Given the description of an element on the screen output the (x, y) to click on. 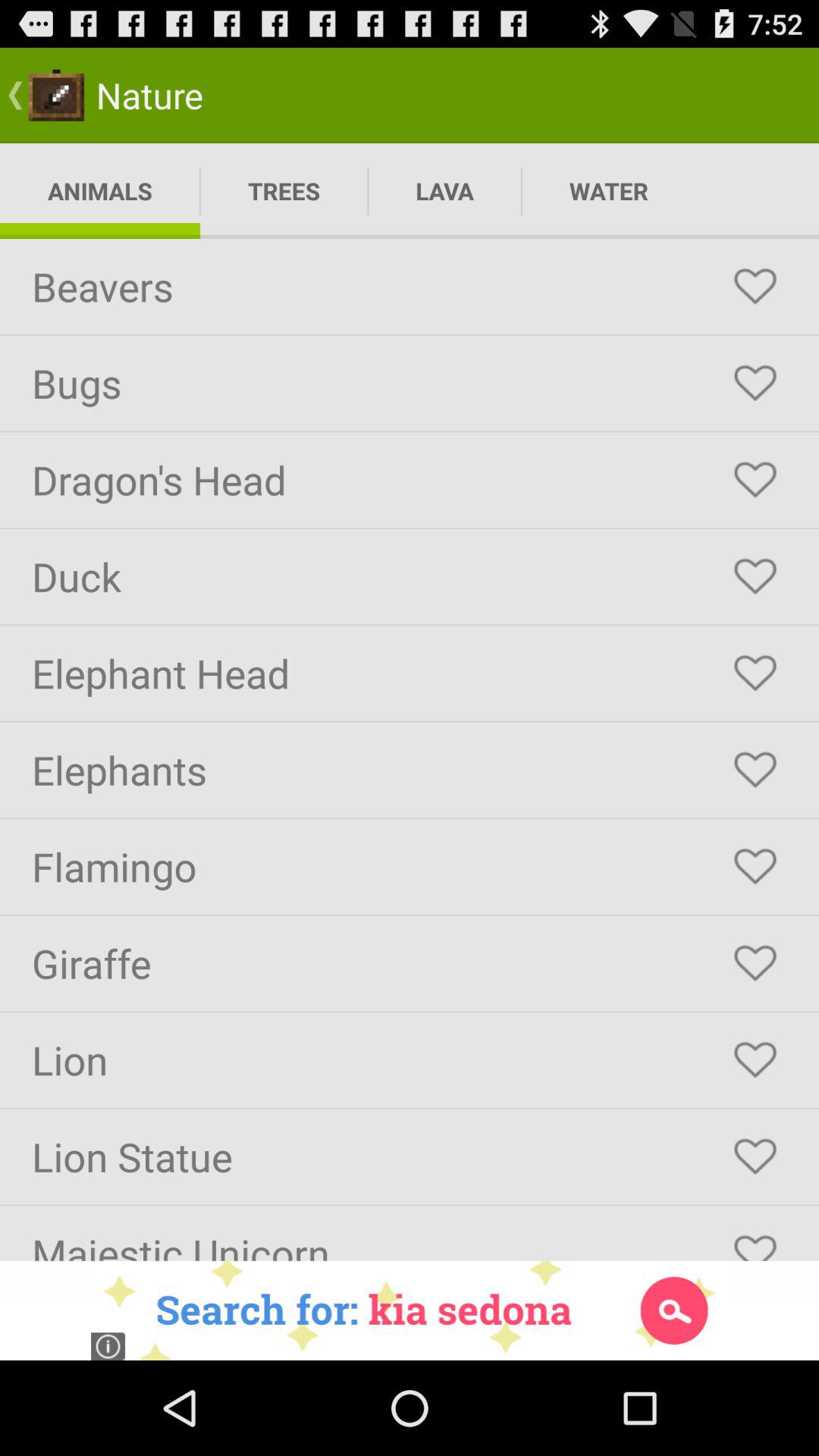
like the option (755, 673)
